Given the description of an element on the screen output the (x, y) to click on. 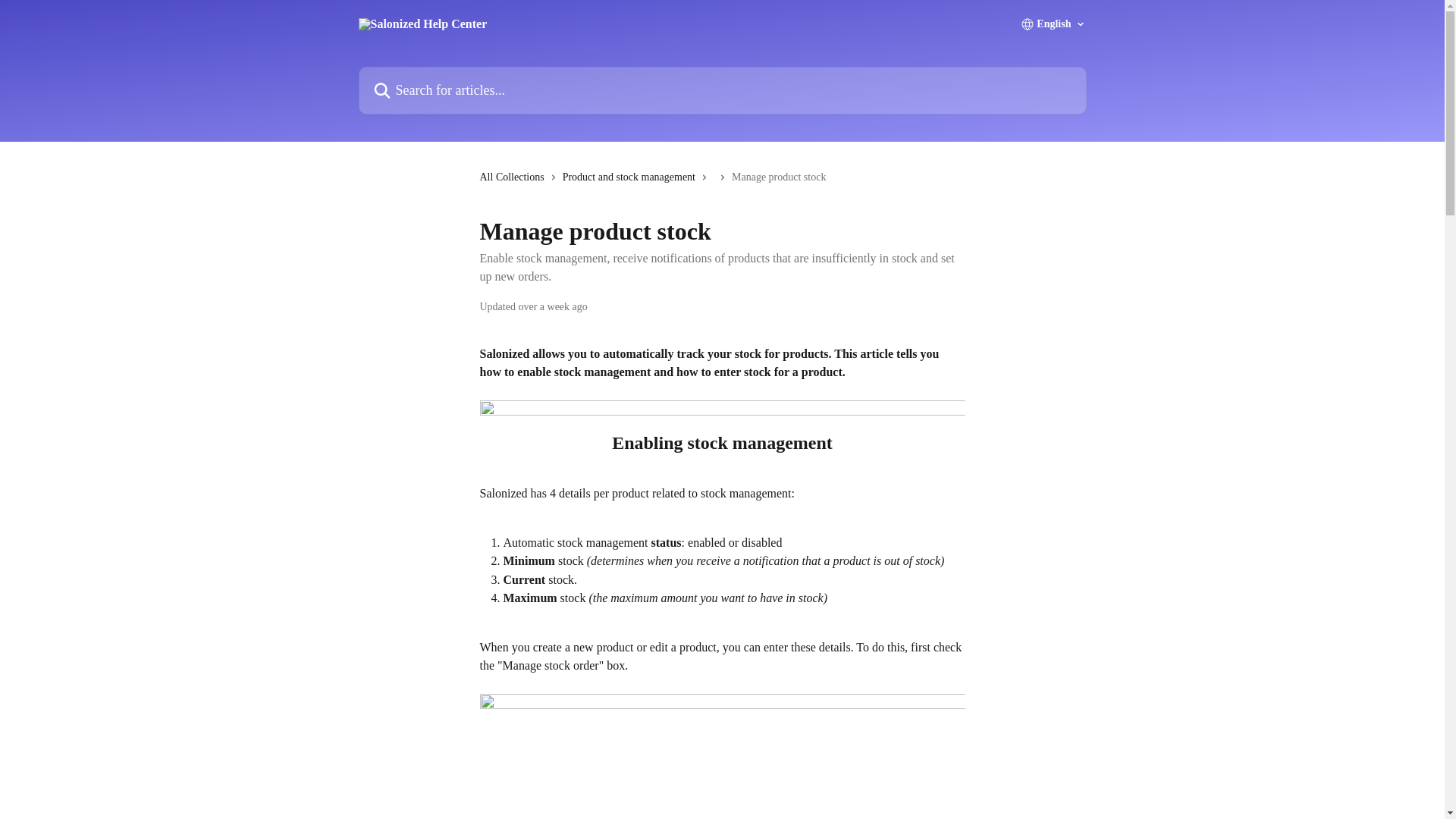
Product and stock management (631, 176)
All Collections (514, 176)
